Given the description of an element on the screen output the (x, y) to click on. 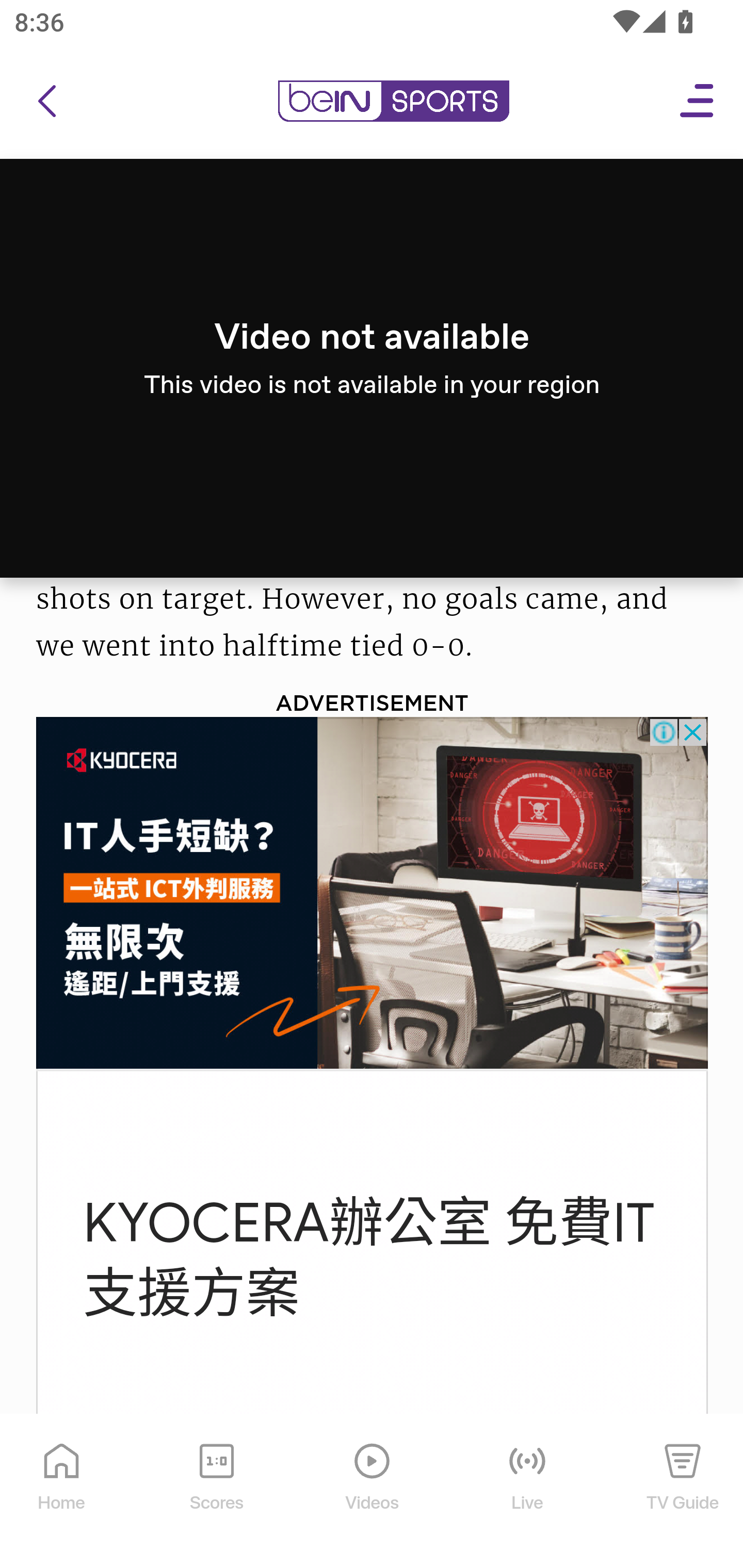
en-us?platform=mobile_android bein logo (392, 101)
icon back (46, 101)
Open Menu Icon (697, 101)
hk_ITservice (372, 893)
KYOCERA辦公室 免費IT 支援方案 KYOCERA辦公室 免費IT 支援方案 (369, 1259)
Home Home Icon Home (61, 1491)
Scores Scores Icon Scores (216, 1491)
Videos Videos Icon Videos (372, 1491)
TV Guide TV Guide Icon TV Guide (682, 1491)
